Given the description of an element on the screen output the (x, y) to click on. 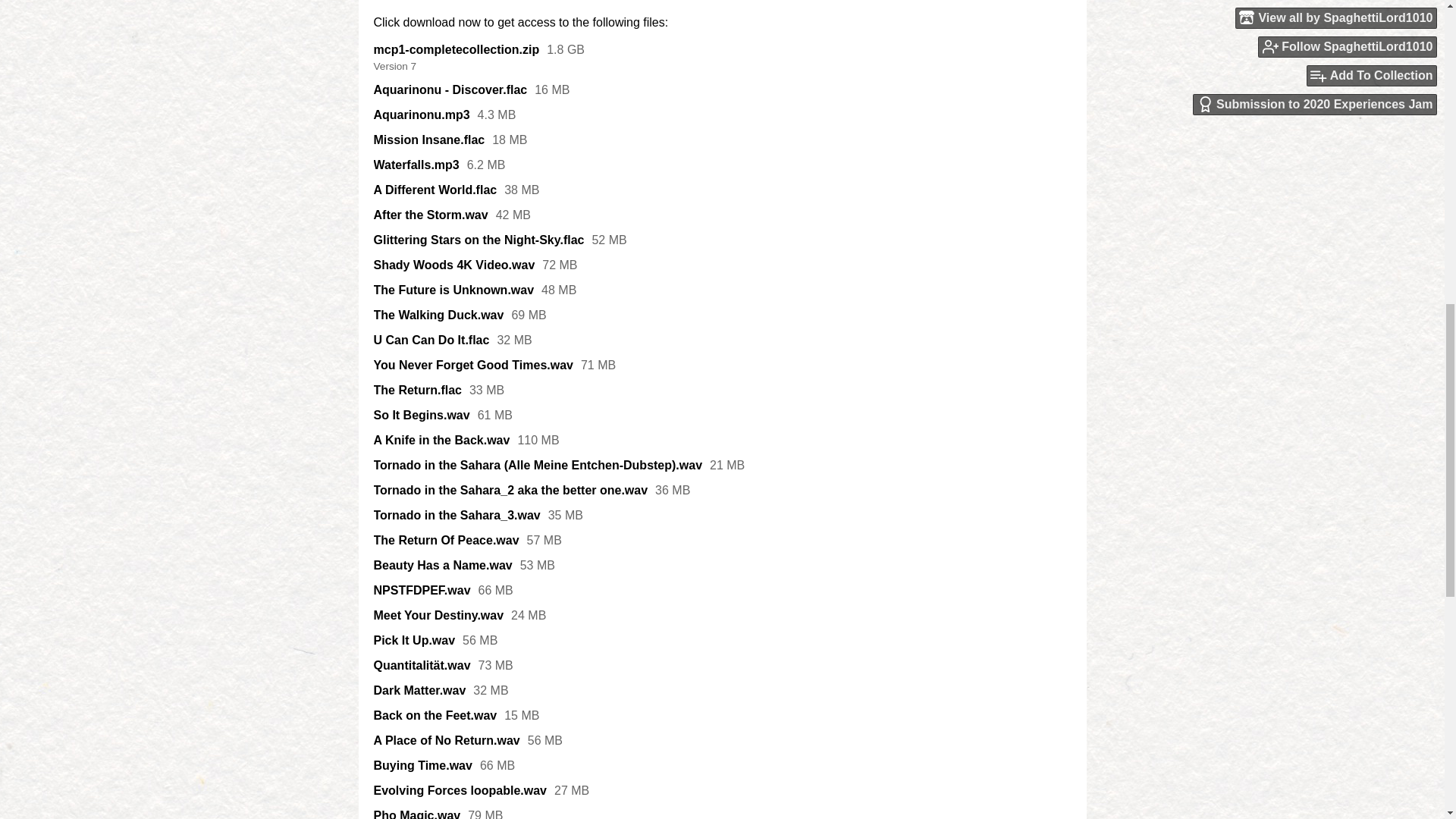
You Never Forget Good Times.wav (472, 365)
Shady Woods 4K Video.wav (453, 264)
U Can Can Do It.flac (430, 340)
mcp1-completecollection.zip (455, 49)
The Return.flac (416, 390)
So It Begins.wav (420, 415)
A Different World.flac (434, 190)
The Walking Duck.wav (437, 315)
A Knife in the Back.wav (440, 440)
The Future is Unknown.wav (453, 290)
After the Storm.wav (429, 214)
Waterfalls.mp3 (415, 164)
Aquarinonu - Discover.flac (449, 90)
Aquarinonu.mp3 (420, 115)
Glittering Stars on the Night-Sky.flac (477, 240)
